Given the description of an element on the screen output the (x, y) to click on. 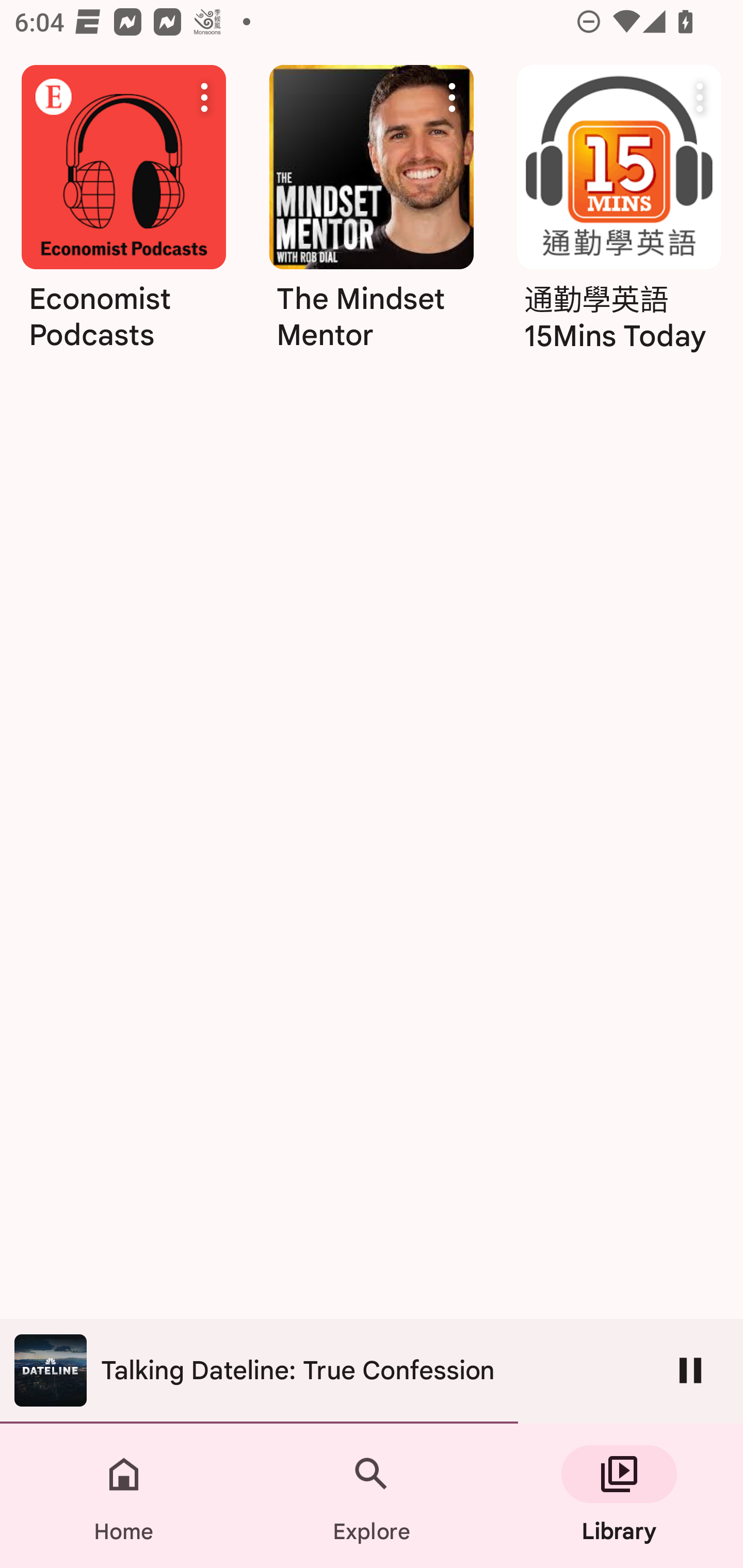
Economist Podcasts More actions Economist Podcasts (123, 267)
The Mindset Mentor More actions The Mindset Mentor (371, 214)
通勤學英語 15Mins Today More actions 通勤學英語 15Mins Today (619, 214)
More actions (203, 97)
More actions (452, 97)
More actions (699, 97)
Pause (690, 1370)
Home (123, 1495)
Explore (371, 1495)
